Given the description of an element on the screen output the (x, y) to click on. 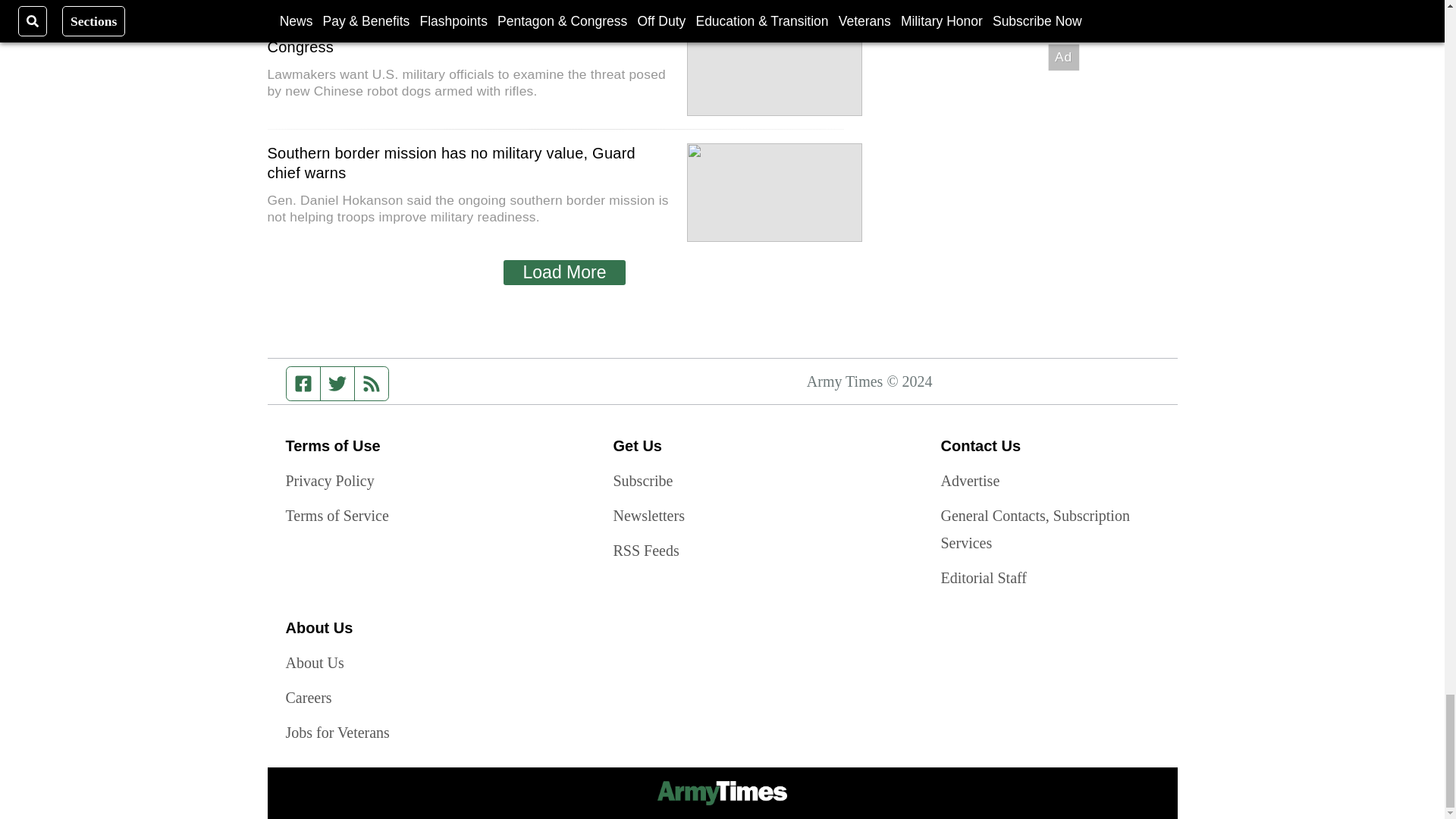
RSS feed (371, 383)
Twitter feed (336, 383)
Facebook page (303, 383)
